Given the description of an element on the screen output the (x, y) to click on. 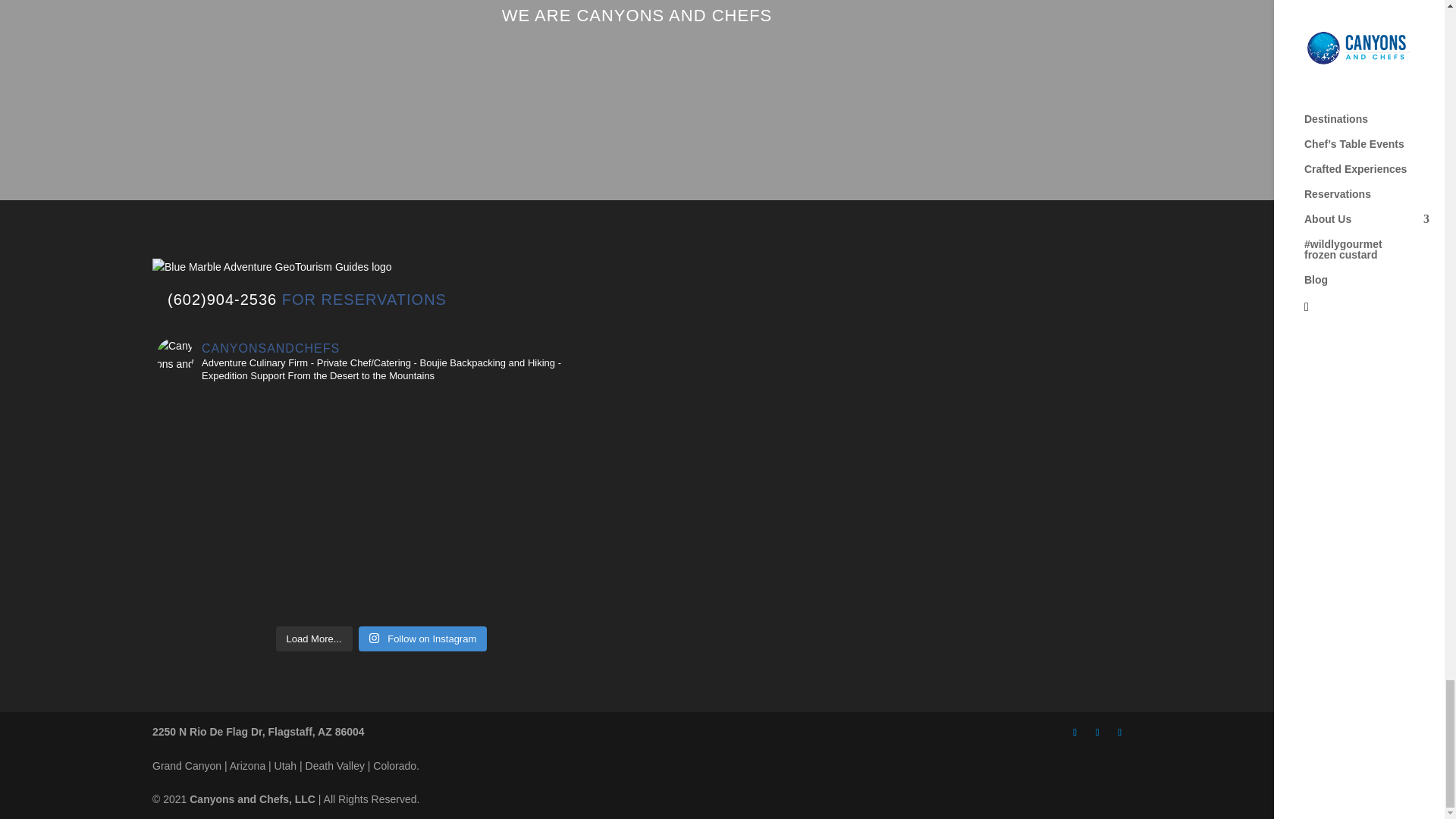
Follow on Instagram (422, 638)
Load More... (314, 638)
